Given the description of an element on the screen output the (x, y) to click on. 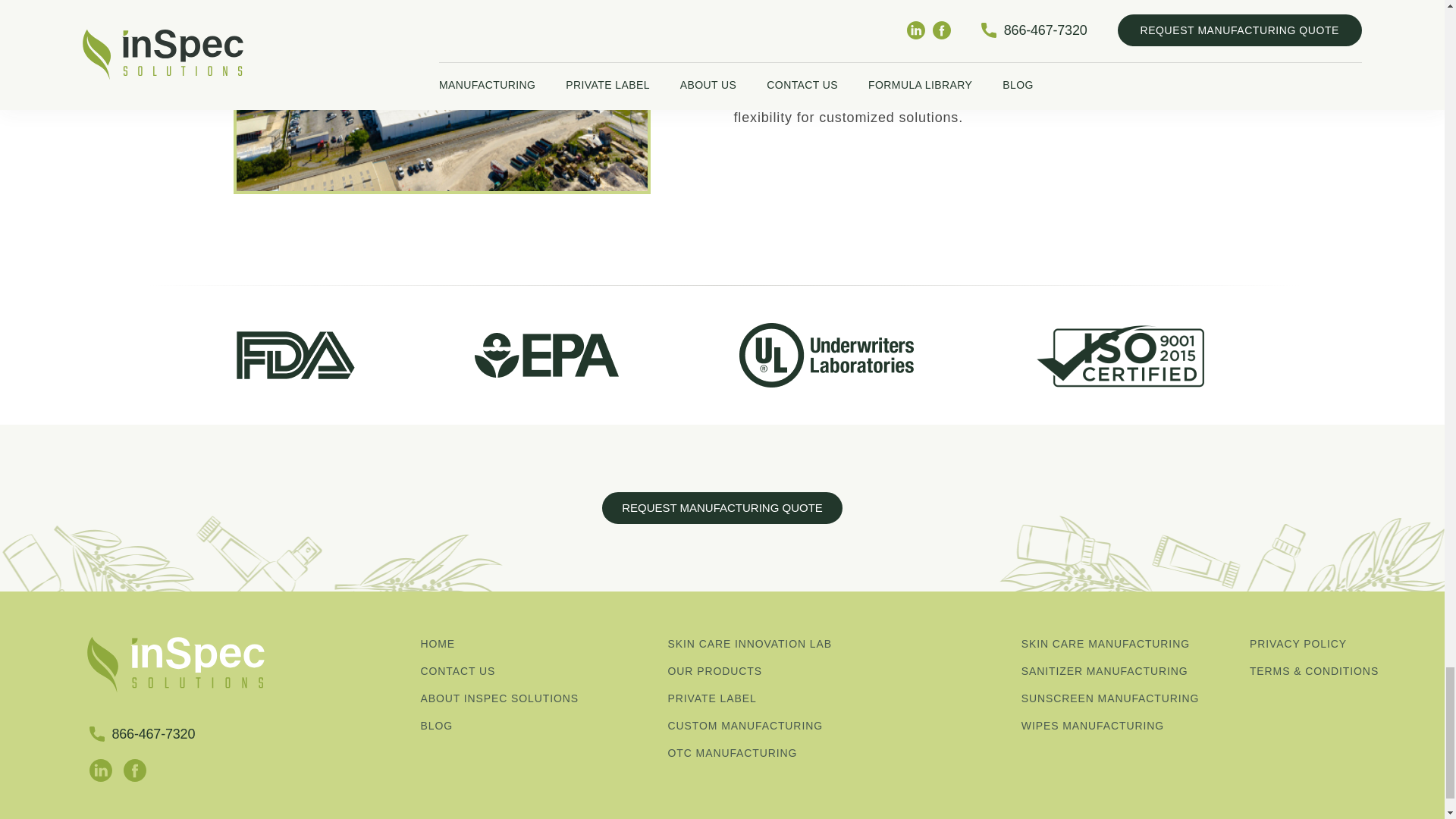
BLOG (528, 725)
CONTACT US (528, 671)
SUNSCREEN MANUFACTURING (1130, 698)
WIPES MANUFACTURING (1130, 725)
OTC MANUFACTURING (776, 753)
CUSTOM MANUFACTURING (776, 725)
REQUEST MANUFACTURING QUOTE (722, 508)
SKIN CARE INNOVATION LAB (776, 643)
OUR PRODUCTS (776, 671)
SANITIZER MANUFACTURING (1130, 671)
PRIVATE LABEL (776, 698)
HOME (528, 643)
866-467-7320 (141, 734)
SKIN CARE MANUFACTURING (1130, 643)
ABOUT INSPEC SOLUTIONS (528, 698)
